Given the description of an element on the screen output the (x, y) to click on. 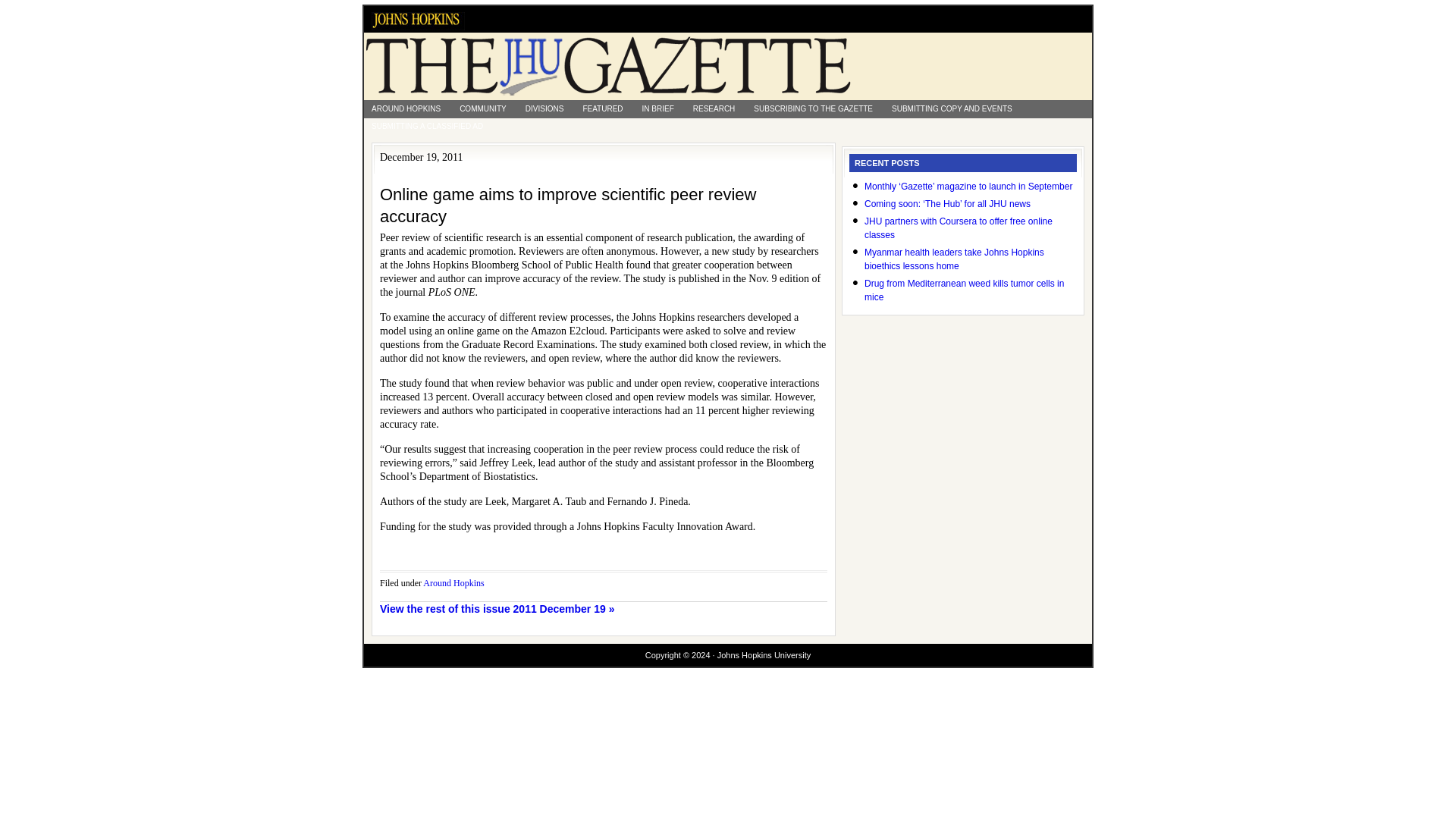
DIVISIONS (545, 108)
COMMUNITY (482, 108)
FEATURED (602, 108)
AROUND HOPKINS (406, 108)
IN BRIEF (657, 108)
